Given the description of an element on the screen output the (x, y) to click on. 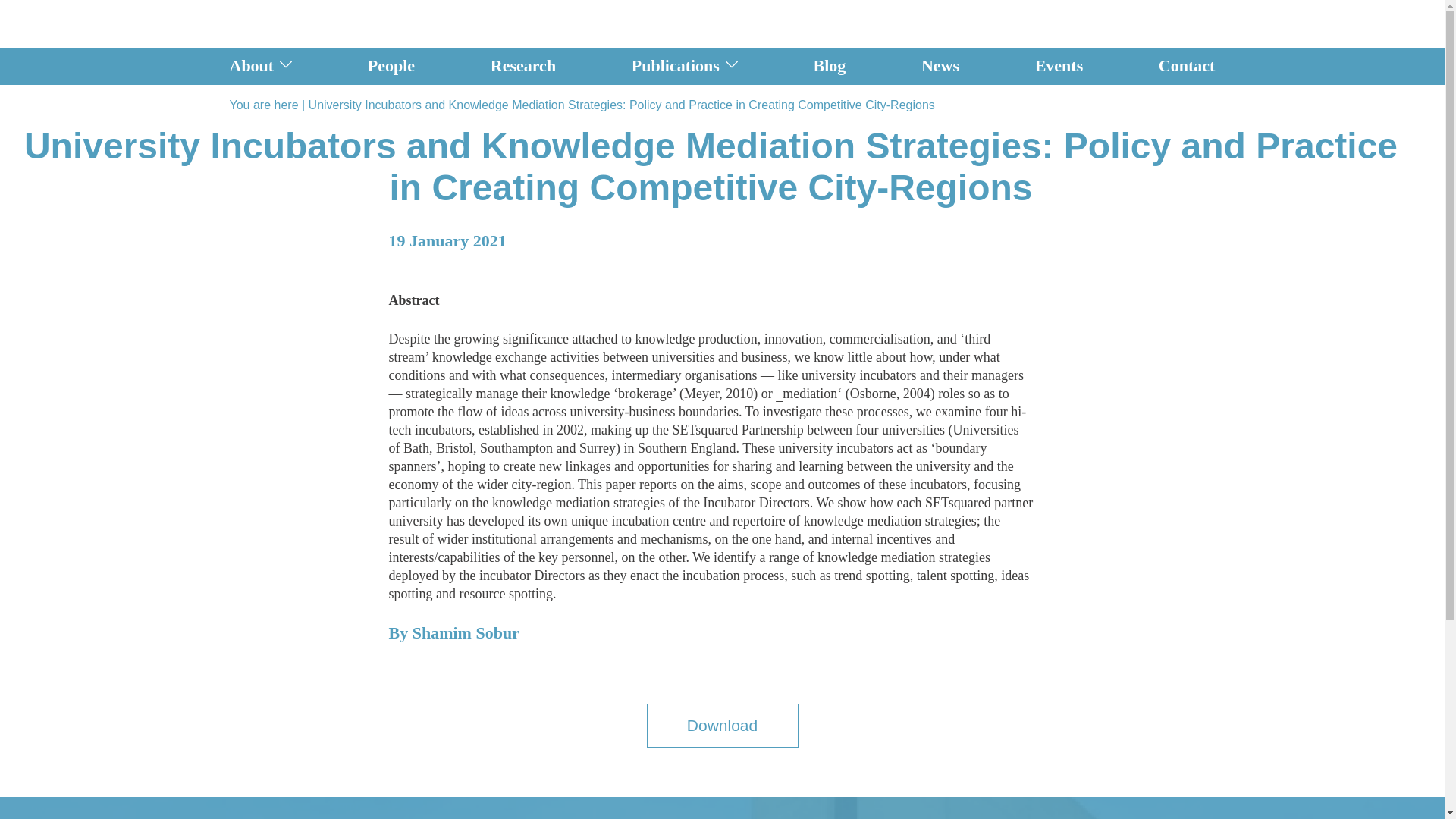
Publications (675, 66)
Research (523, 66)
About (250, 66)
Contact (1186, 66)
News (940, 66)
Download (721, 725)
Blog (829, 66)
Events (1059, 66)
People (391, 66)
By Shamim Sobur (453, 640)
